Given the description of an element on the screen output the (x, y) to click on. 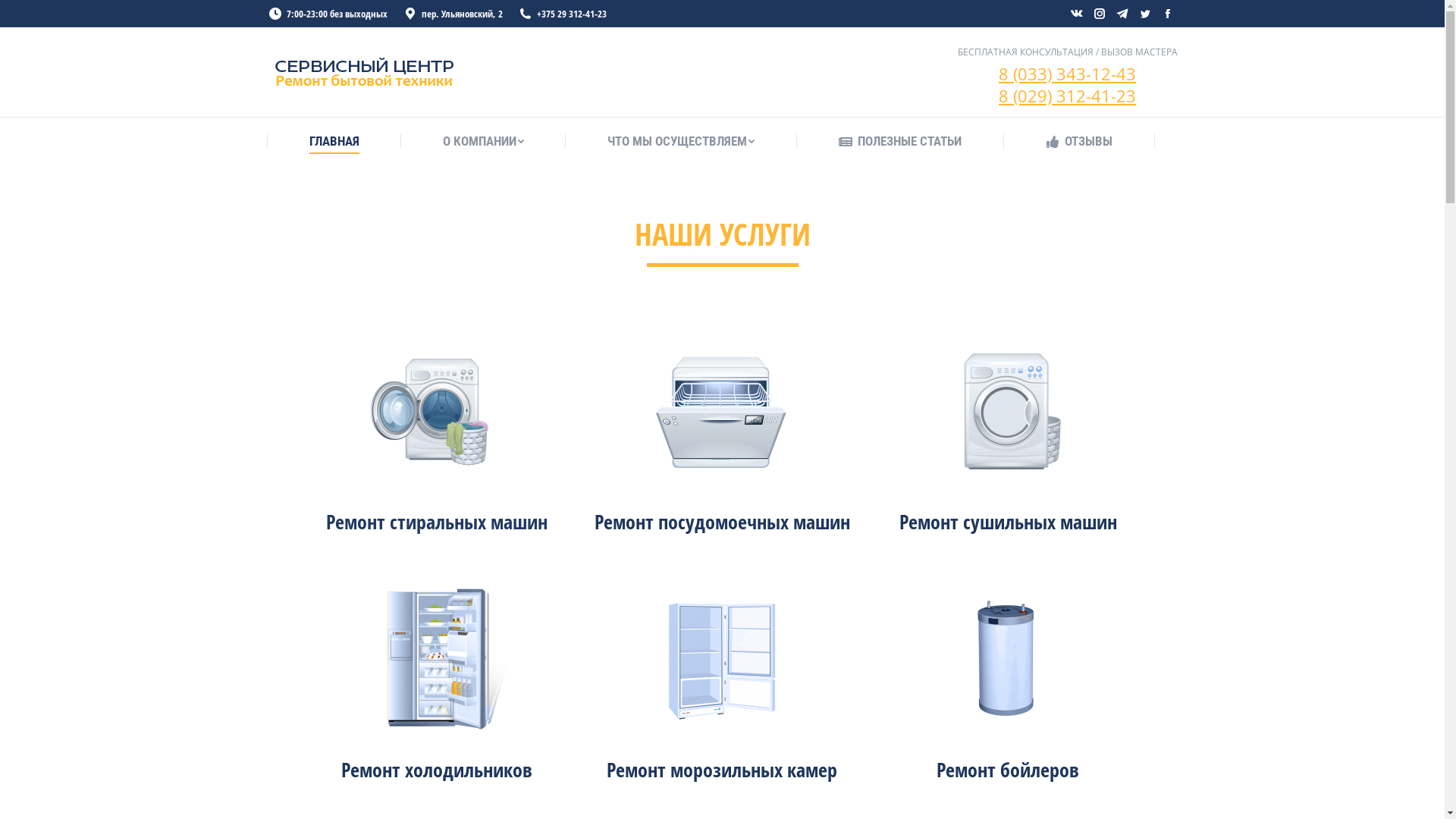
+375 29 312-41-23 Element type: text (561, 13)
Telegram page opens in new window Element type: text (1121, 13)
Instagram page opens in new window Element type: text (1098, 13)
Facebook page opens in new window Element type: text (1166, 13)
Twitter page opens in new window Element type: text (1144, 13)
8 (029) 312-41-23 Element type: text (1066, 94)
8 (033) 343-12-43 Element type: text (1066, 73)
